Given the description of an element on the screen output the (x, y) to click on. 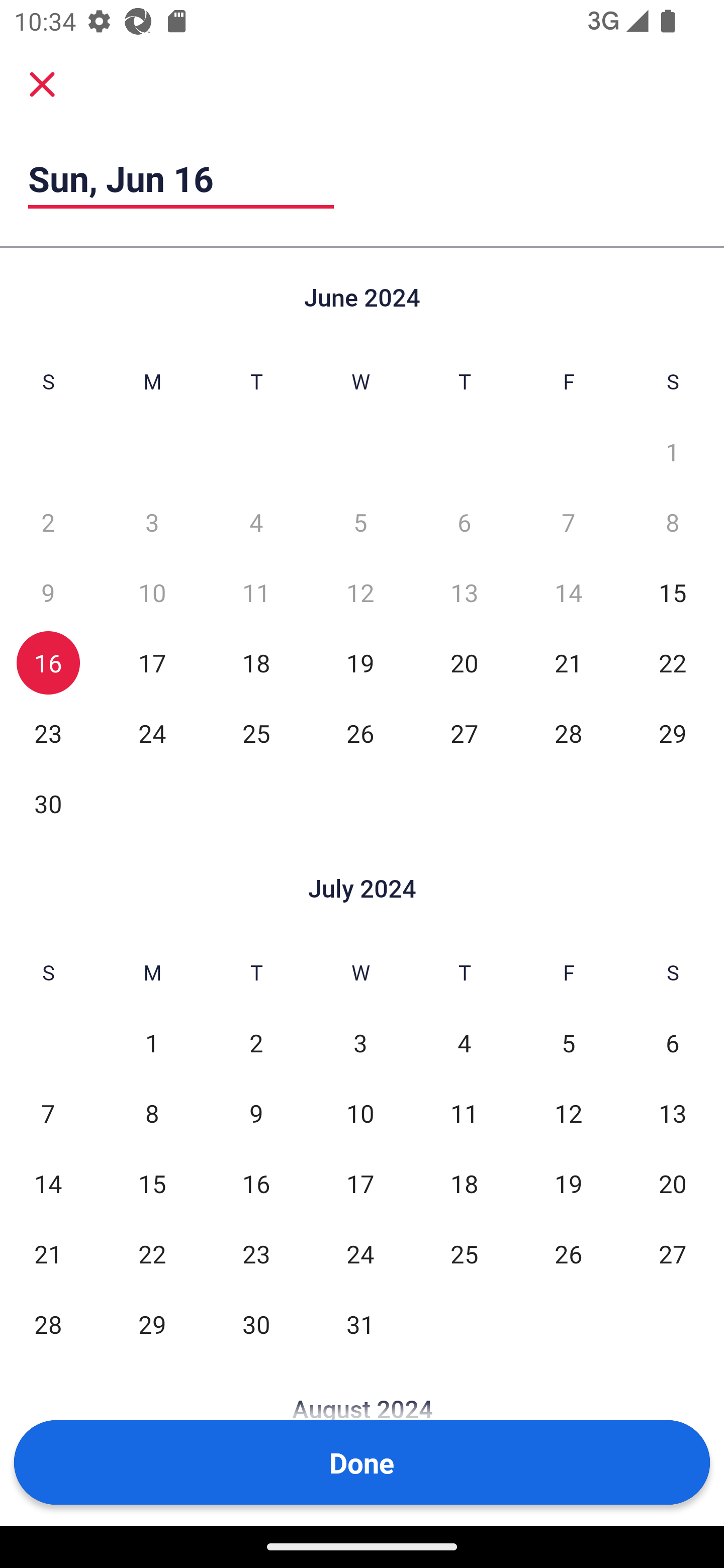
Cancel (41, 83)
Sun, Jun 16 (180, 178)
1 Sat, Jun 1, Not Selected (672, 452)
2 Sun, Jun 2, Not Selected (48, 521)
3 Mon, Jun 3, Not Selected (152, 521)
4 Tue, Jun 4, Not Selected (256, 521)
5 Wed, Jun 5, Not Selected (360, 521)
6 Thu, Jun 6, Not Selected (464, 521)
7 Fri, Jun 7, Not Selected (568, 521)
8 Sat, Jun 8, Not Selected (672, 521)
9 Sun, Jun 9, Not Selected (48, 591)
10 Mon, Jun 10, Not Selected (152, 591)
11 Tue, Jun 11, Not Selected (256, 591)
12 Wed, Jun 12, Not Selected (360, 591)
13 Thu, Jun 13, Not Selected (464, 591)
14 Fri, Jun 14, Not Selected (568, 591)
15 Sat, Jun 15, Not Selected (672, 591)
16 Sun, Jun 16, Selected (48, 662)
17 Mon, Jun 17, Not Selected (152, 662)
18 Tue, Jun 18, Not Selected (256, 662)
19 Wed, Jun 19, Not Selected (360, 662)
20 Thu, Jun 20, Not Selected (464, 662)
21 Fri, Jun 21, Not Selected (568, 662)
22 Sat, Jun 22, Not Selected (672, 662)
23 Sun, Jun 23, Not Selected (48, 732)
24 Mon, Jun 24, Not Selected (152, 732)
25 Tue, Jun 25, Not Selected (256, 732)
26 Wed, Jun 26, Not Selected (360, 732)
27 Thu, Jun 27, Not Selected (464, 732)
28 Fri, Jun 28, Not Selected (568, 732)
29 Sat, Jun 29, Not Selected (672, 732)
30 Sun, Jun 30, Not Selected (48, 803)
1 Mon, Jul 1, Not Selected (152, 1043)
2 Tue, Jul 2, Not Selected (256, 1043)
3 Wed, Jul 3, Not Selected (360, 1043)
4 Thu, Jul 4, Not Selected (464, 1043)
5 Fri, Jul 5, Not Selected (568, 1043)
6 Sat, Jul 6, Not Selected (672, 1043)
7 Sun, Jul 7, Not Selected (48, 1112)
8 Mon, Jul 8, Not Selected (152, 1112)
9 Tue, Jul 9, Not Selected (256, 1112)
10 Wed, Jul 10, Not Selected (360, 1112)
11 Thu, Jul 11, Not Selected (464, 1112)
12 Fri, Jul 12, Not Selected (568, 1112)
13 Sat, Jul 13, Not Selected (672, 1112)
14 Sun, Jul 14, Not Selected (48, 1182)
15 Mon, Jul 15, Not Selected (152, 1182)
16 Tue, Jul 16, Not Selected (256, 1182)
17 Wed, Jul 17, Not Selected (360, 1182)
18 Thu, Jul 18, Not Selected (464, 1182)
19 Fri, Jul 19, Not Selected (568, 1182)
20 Sat, Jul 20, Not Selected (672, 1182)
21 Sun, Jul 21, Not Selected (48, 1253)
22 Mon, Jul 22, Not Selected (152, 1253)
23 Tue, Jul 23, Not Selected (256, 1253)
24 Wed, Jul 24, Not Selected (360, 1253)
25 Thu, Jul 25, Not Selected (464, 1253)
26 Fri, Jul 26, Not Selected (568, 1253)
27 Sat, Jul 27, Not Selected (672, 1253)
28 Sun, Jul 28, Not Selected (48, 1323)
29 Mon, Jul 29, Not Selected (152, 1323)
30 Tue, Jul 30, Not Selected (256, 1323)
31 Wed, Jul 31, Not Selected (360, 1323)
Done Button Done (361, 1462)
